Given the description of an element on the screen output the (x, y) to click on. 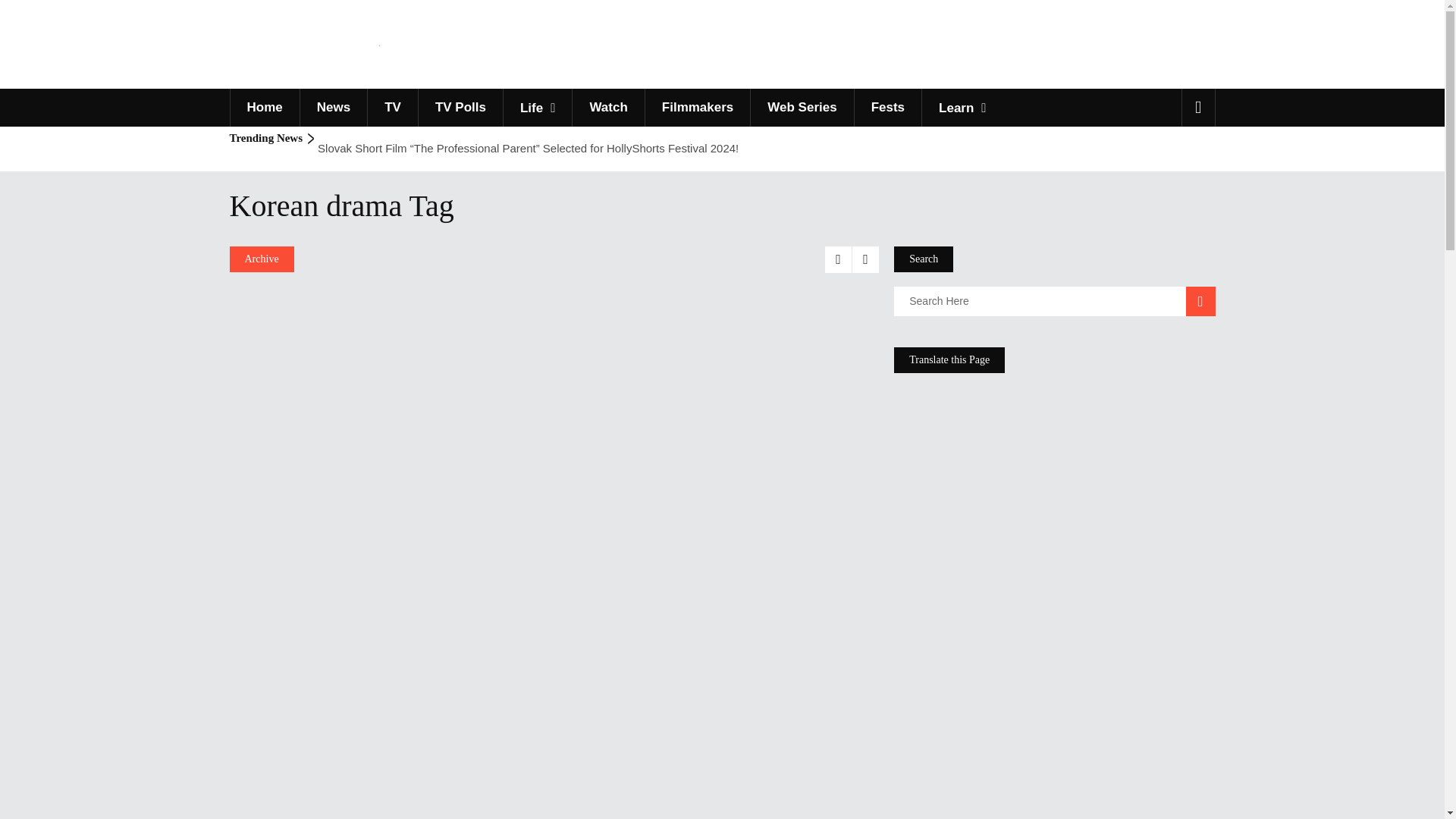
TV (391, 107)
TV Polls (459, 107)
Home (263, 107)
News (332, 107)
Filmmakers (698, 107)
Life (537, 107)
Watch (607, 107)
Learn (962, 107)
Web Series (801, 107)
Fests (887, 107)
